Given the description of an element on the screen output the (x, y) to click on. 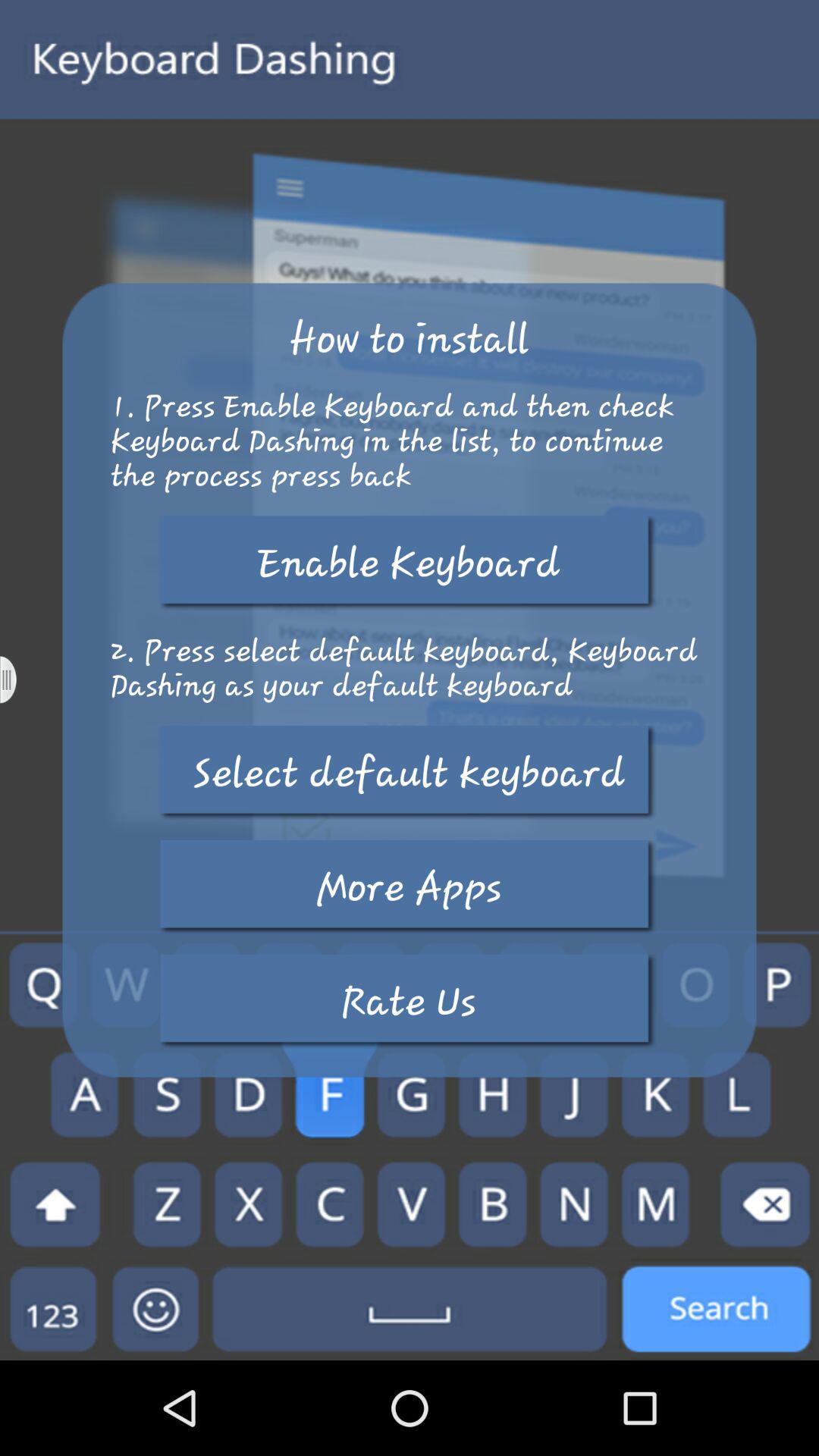
launch the icon above rate us button (409, 887)
